Given the description of an element on the screen output the (x, y) to click on. 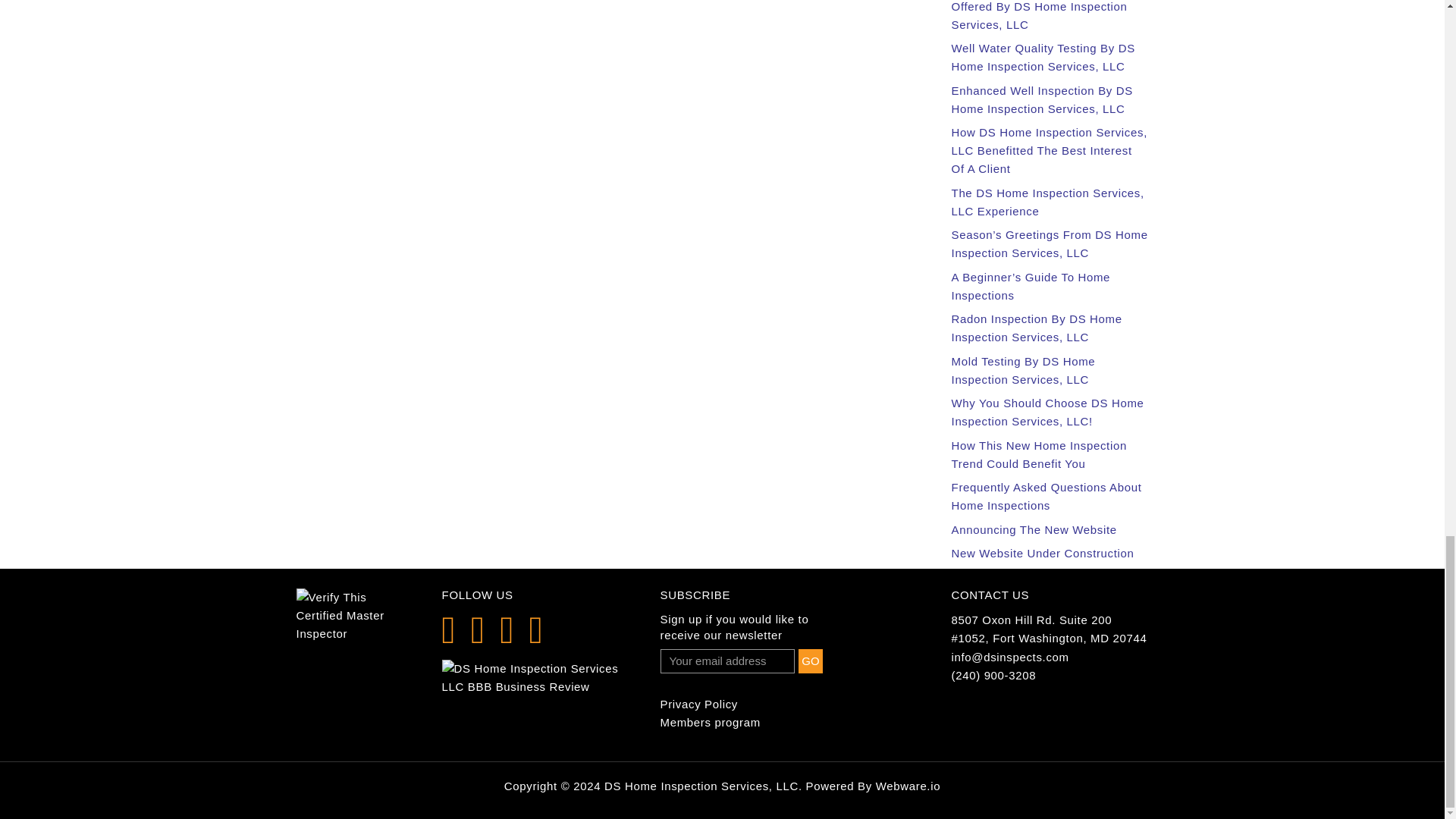
GO (809, 661)
Your email address (727, 661)
